Given the description of an element on the screen output the (x, y) to click on. 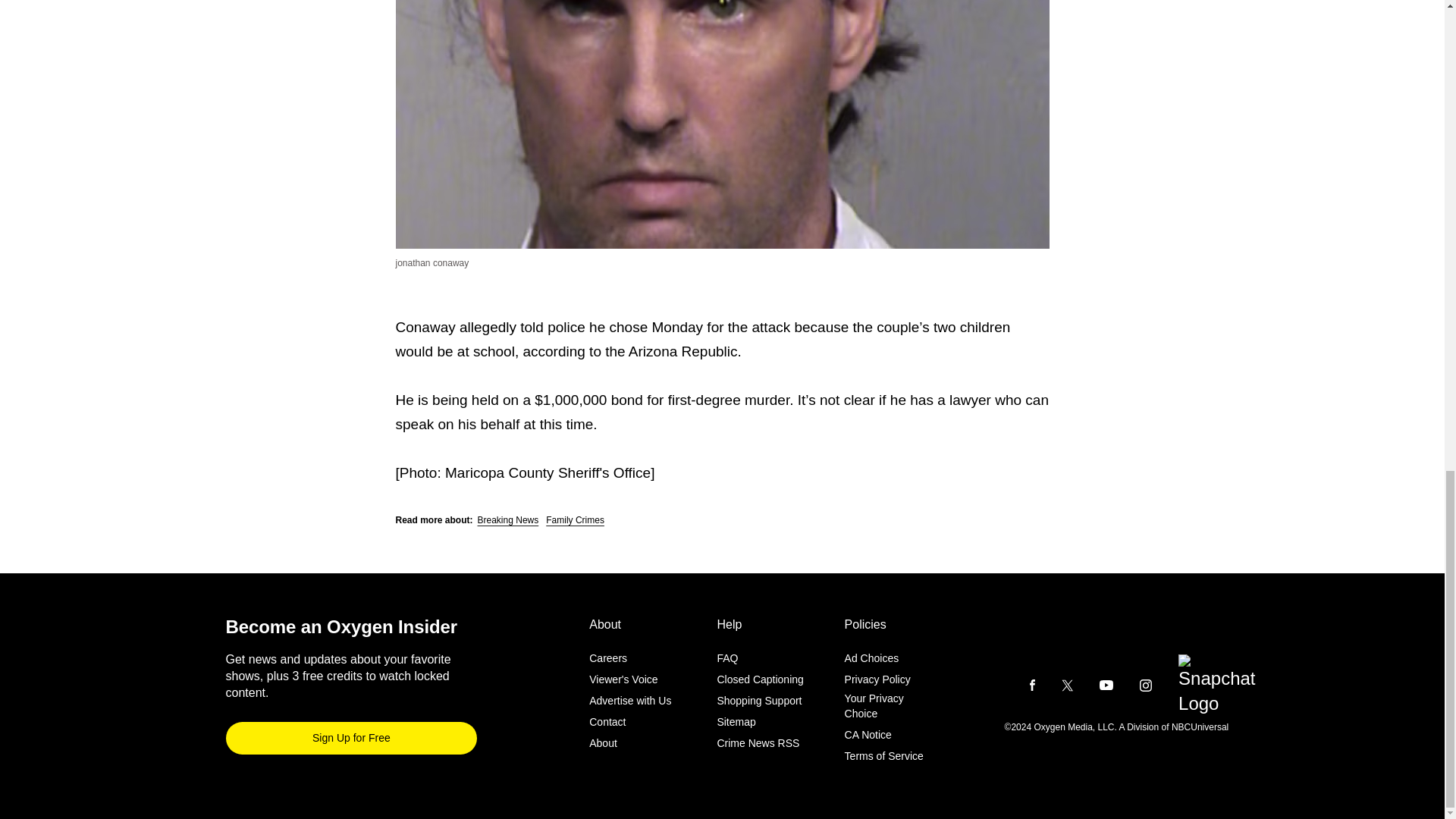
Breaking News (507, 520)
Advertise with Us (630, 700)
Family Crimes (575, 520)
